Given the description of an element on the screen output the (x, y) to click on. 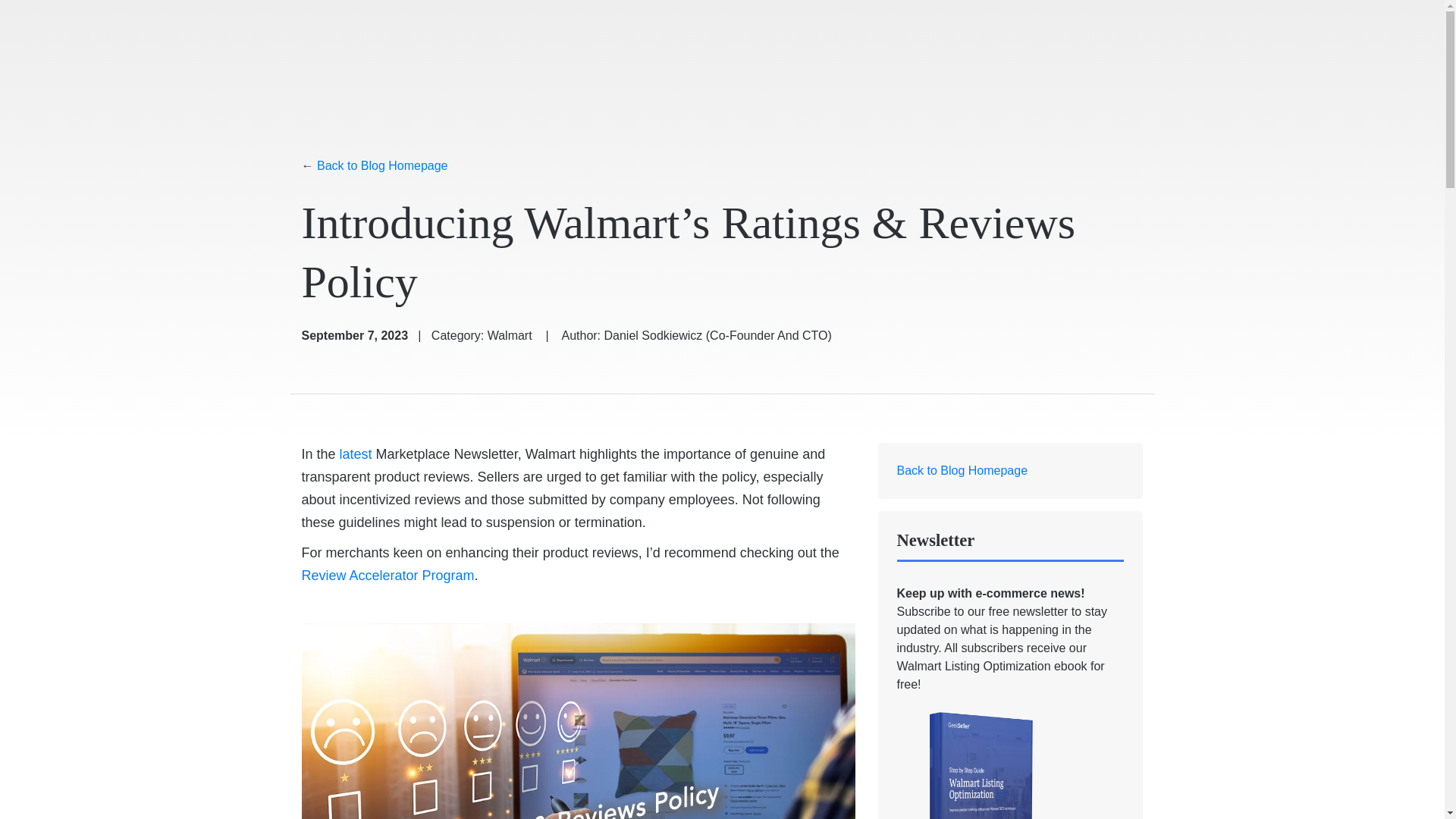
Back to Blog Homepage (961, 470)
Review Accelerator Program (387, 575)
Walmart (509, 335)
Back to Blog Homepage (382, 166)
latest (355, 454)
